Given the description of an element on the screen output the (x, y) to click on. 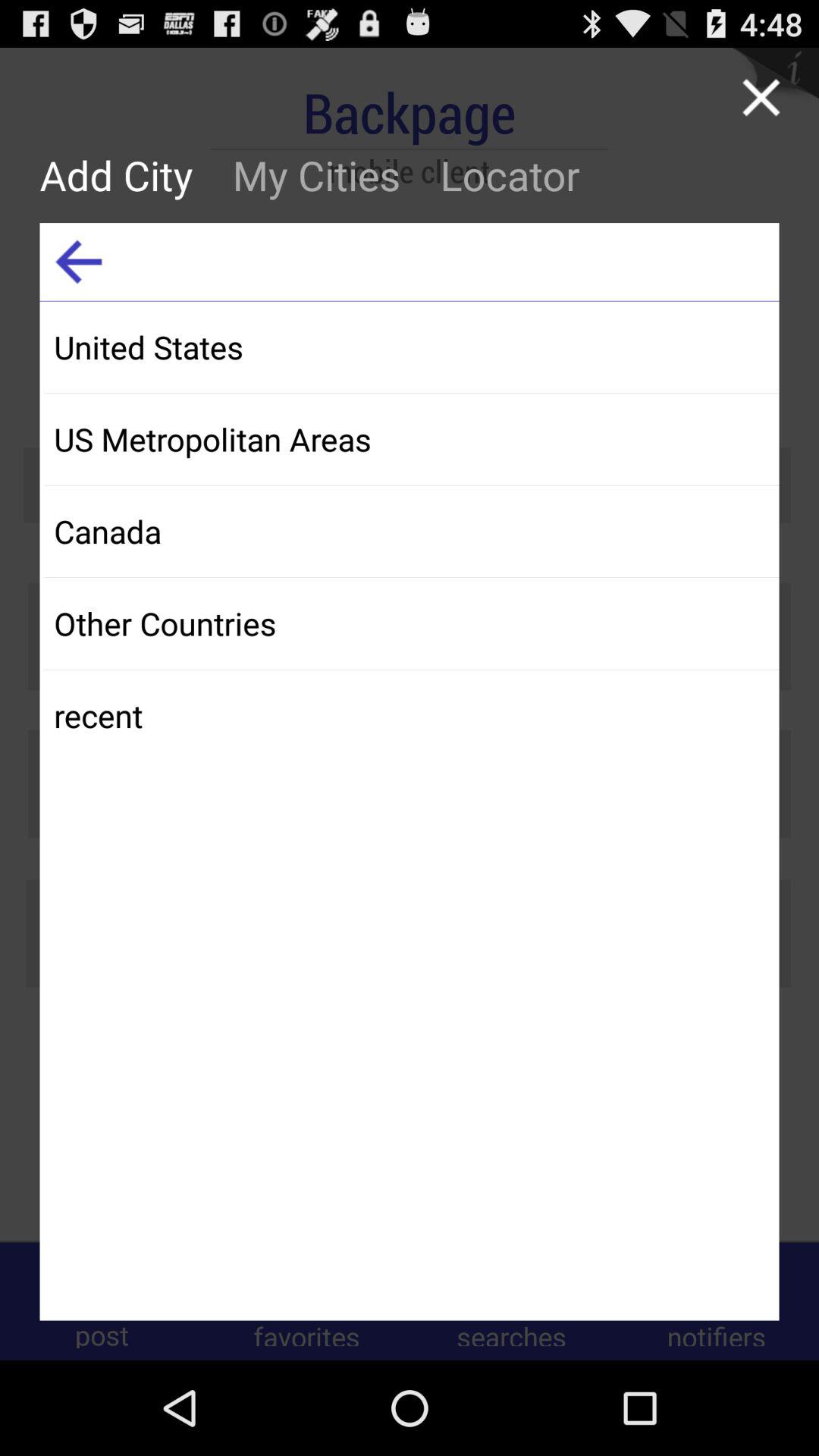
launch the button next to locator (316, 174)
